Given the description of an element on the screen output the (x, y) to click on. 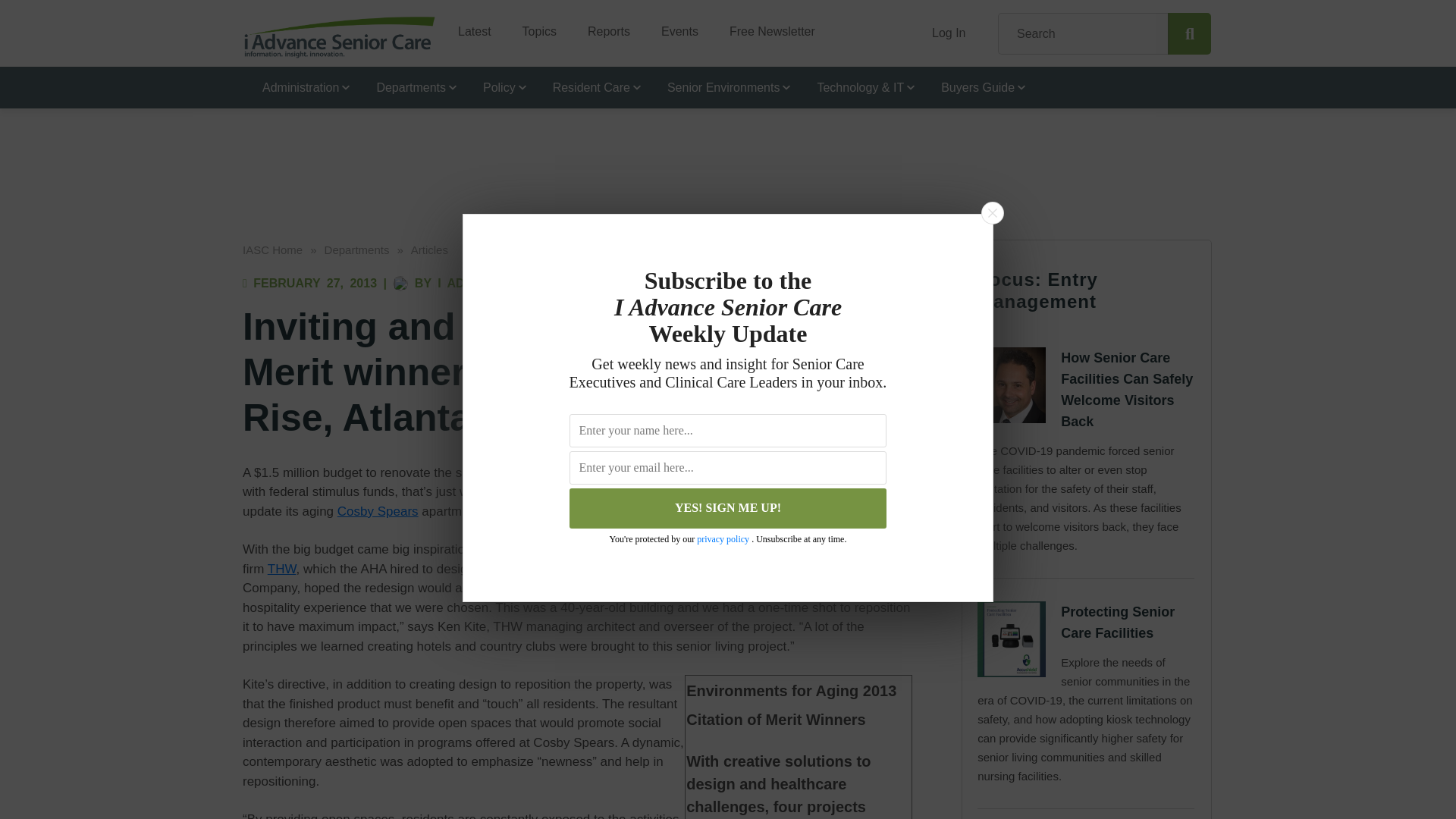
Departments (409, 87)
Free Newsletter (766, 26)
3rd party ad content (727, 150)
Latest (468, 26)
Administration (299, 87)
Reports (603, 26)
Topics (533, 26)
Events (673, 26)
Close (992, 212)
I Advance Senior Care (339, 36)
YES! Sign me up! (727, 508)
Resident Care (589, 87)
Policy (497, 87)
